Given the description of an element on the screen output the (x, y) to click on. 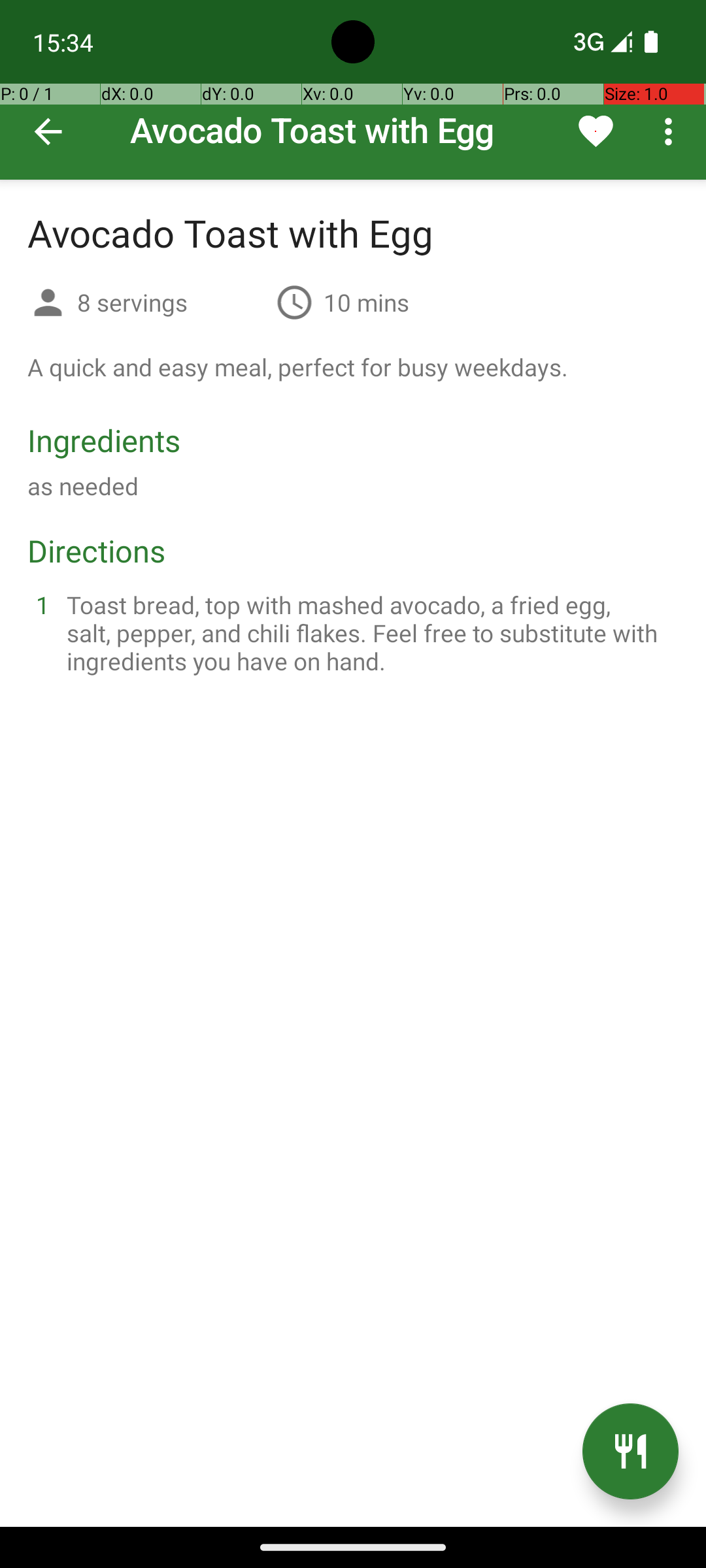
as needed Element type: android.widget.TextView (82, 485)
Toast bread, top with mashed avocado, a fried egg, salt, pepper, and chili flakes. Feel free to substitute with ingredients you have on hand. Element type: android.widget.TextView (368, 632)
